Given the description of an element on the screen output the (x, y) to click on. 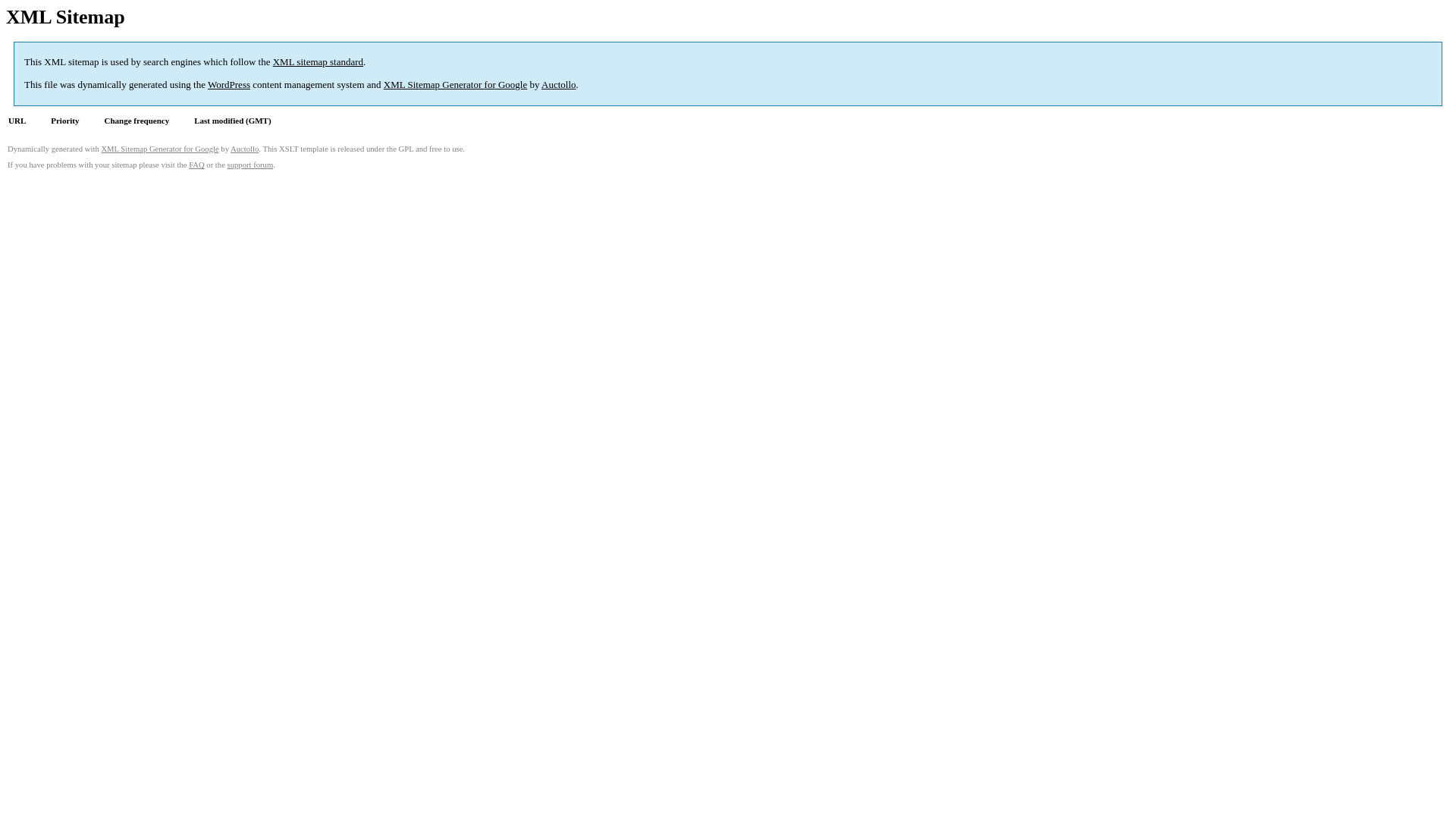
XML Sitemap Generator for Google Element type: text (159, 148)
XML sitemap standard Element type: text (318, 61)
support forum Element type: text (250, 164)
WordPress Element type: text (228, 84)
Auctollo Element type: text (244, 148)
FAQ Element type: text (196, 164)
Auctollo Element type: text (558, 84)
XML Sitemap Generator for Google Element type: text (455, 84)
